Given the description of an element on the screen output the (x, y) to click on. 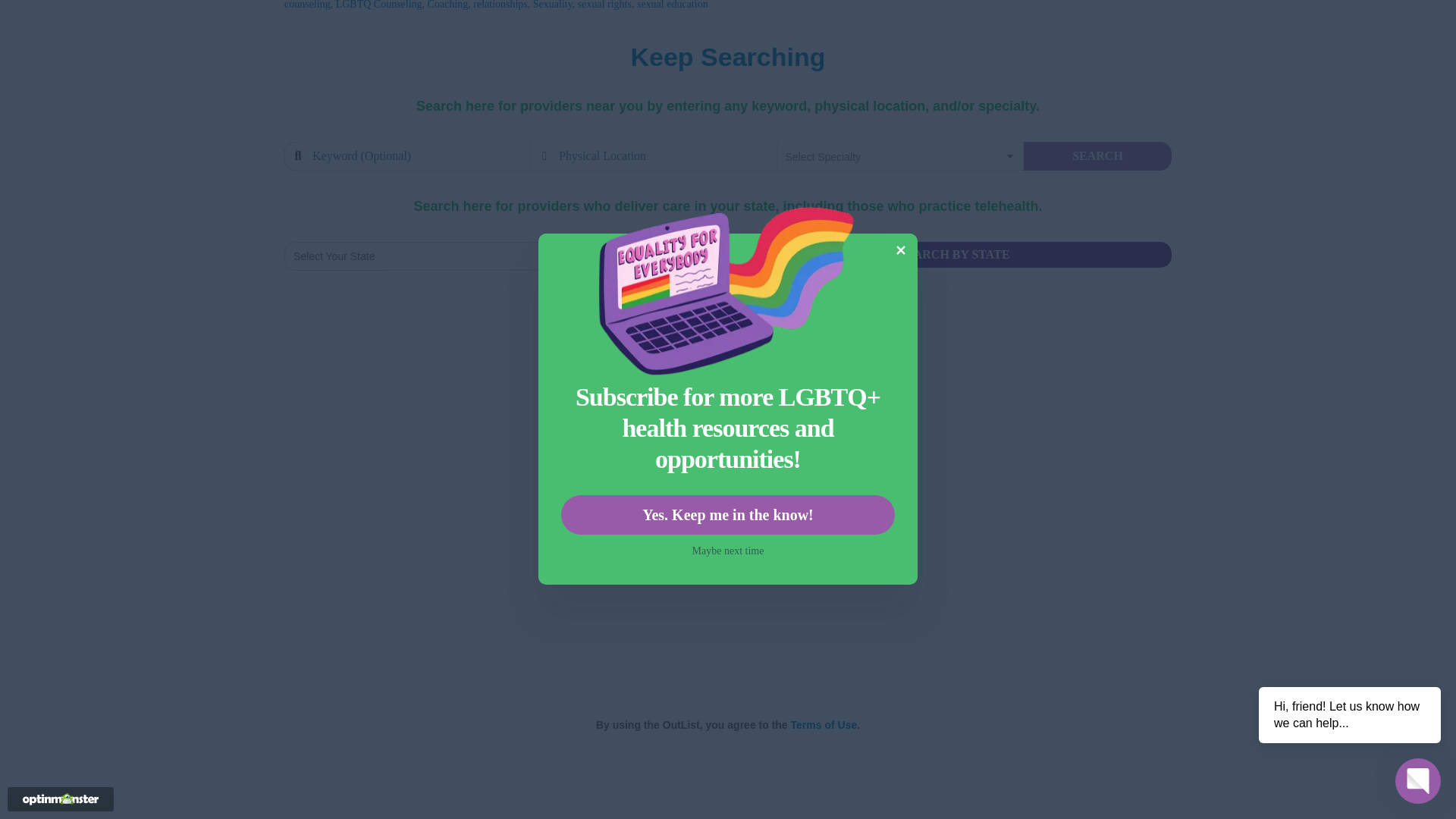
relationships (500, 4)
counseling (306, 4)
sexual rights (604, 4)
Coaching (448, 4)
Sexuality (552, 4)
LGBTQ Counseling (379, 4)
sexual education (672, 4)
